Given the description of an element on the screen output the (x, y) to click on. 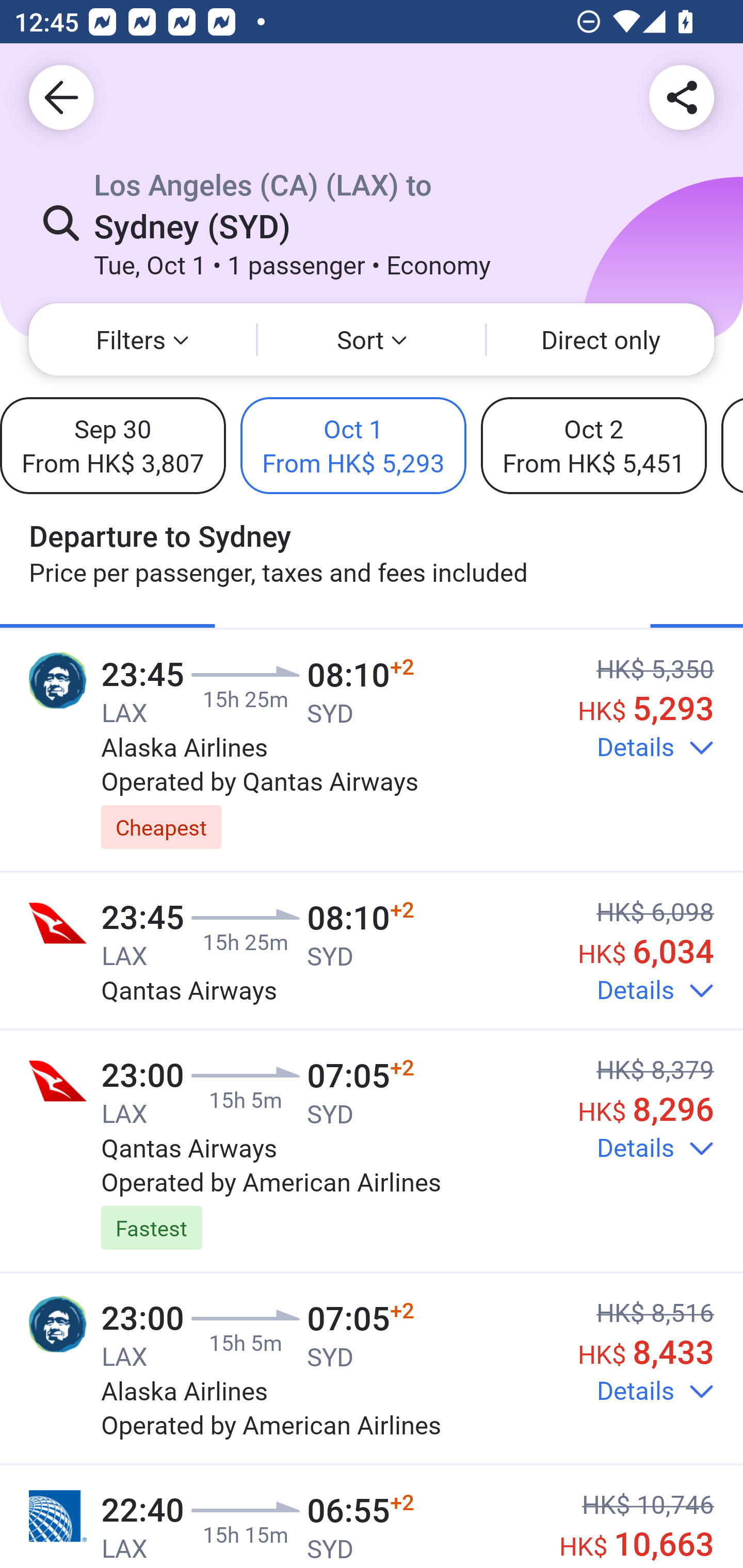
Filters (141, 339)
Sort (371, 339)
Direct only (600, 339)
Sep 30 From HK$ 3,807 (112, 444)
Oct 1 From HK$ 5,293 (353, 444)
Oct 2 From HK$ 5,451 (593, 444)
